Given the description of an element on the screen output the (x, y) to click on. 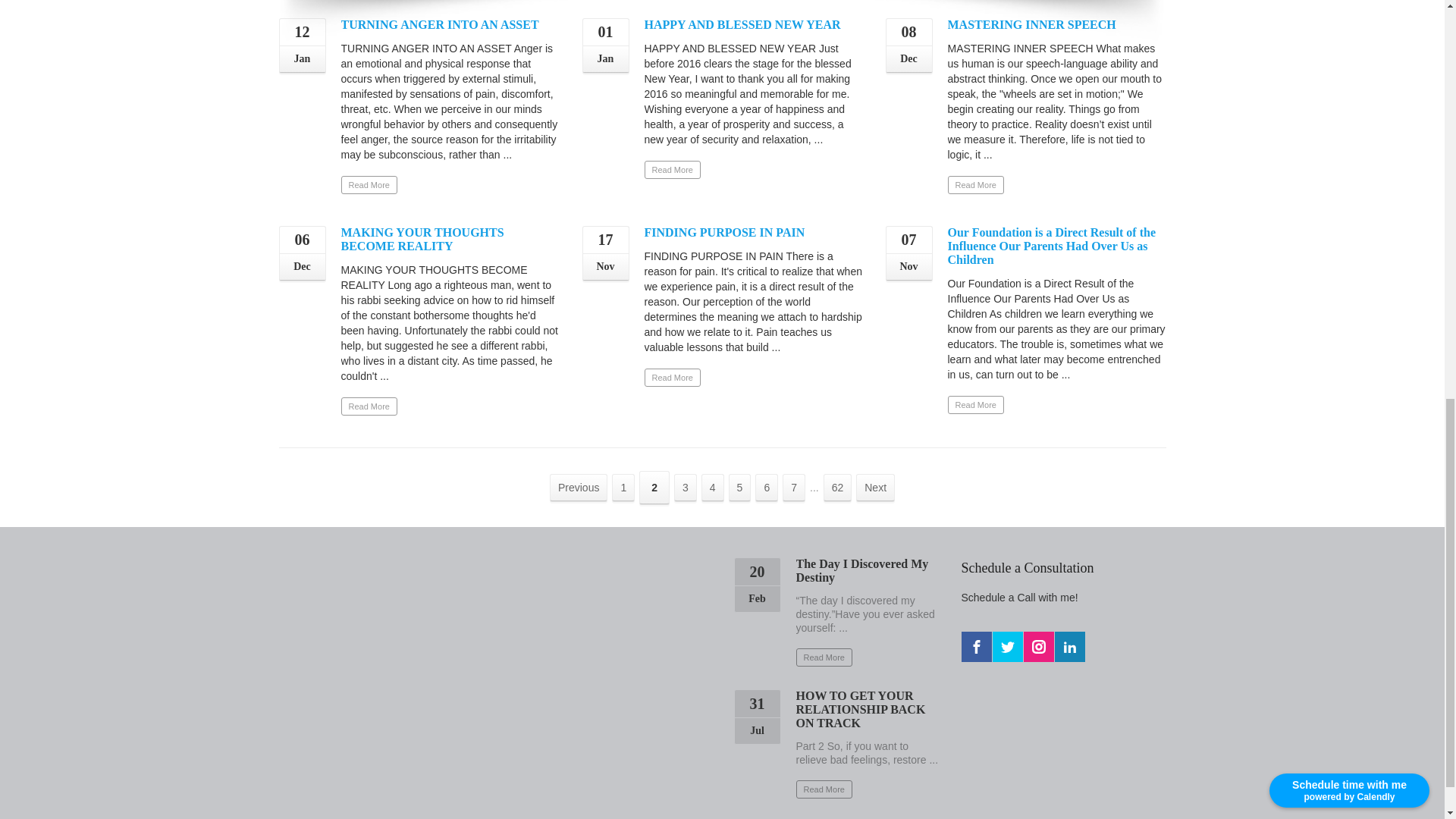
MAKING YOUR THOUGHTS BECOME REALITY (421, 239)
Read More (368, 185)
Facebook (975, 646)
FINDING PURPOSE IN PAIN (725, 232)
Read More (975, 404)
Twitter (1006, 646)
Read More (672, 169)
MASTERING INNER SPEECH (1031, 24)
Instagram (1038, 646)
HAPPY AND BLESSED NEW YEAR (743, 24)
Read More (672, 377)
TURNING ANGER INTO AN ASSET (439, 24)
Read More (975, 185)
Linkedin (1069, 646)
